Given the description of an element on the screen output the (x, y) to click on. 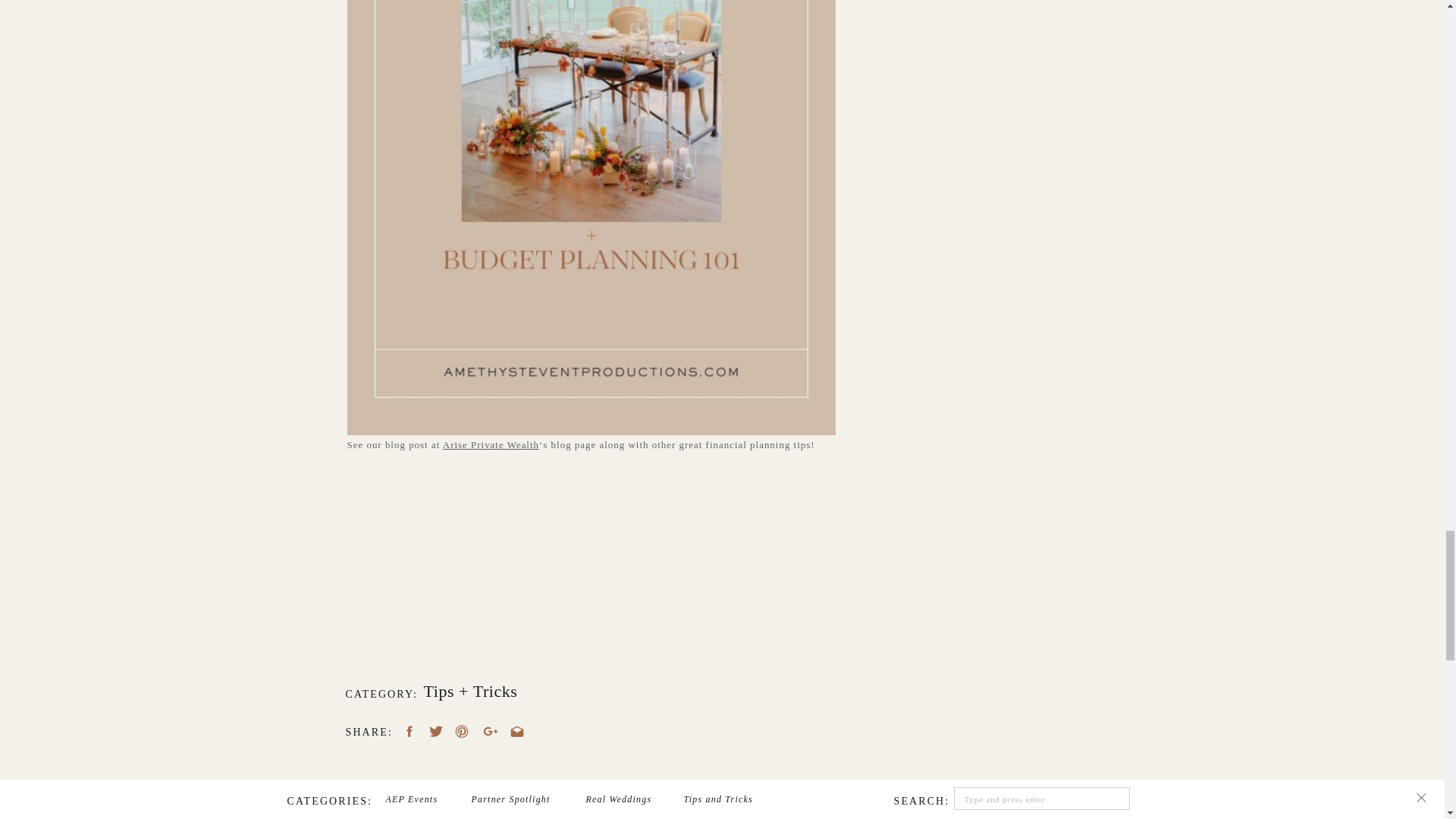
Arise Private Wealth (490, 444)
